Given the description of an element on the screen output the (x, y) to click on. 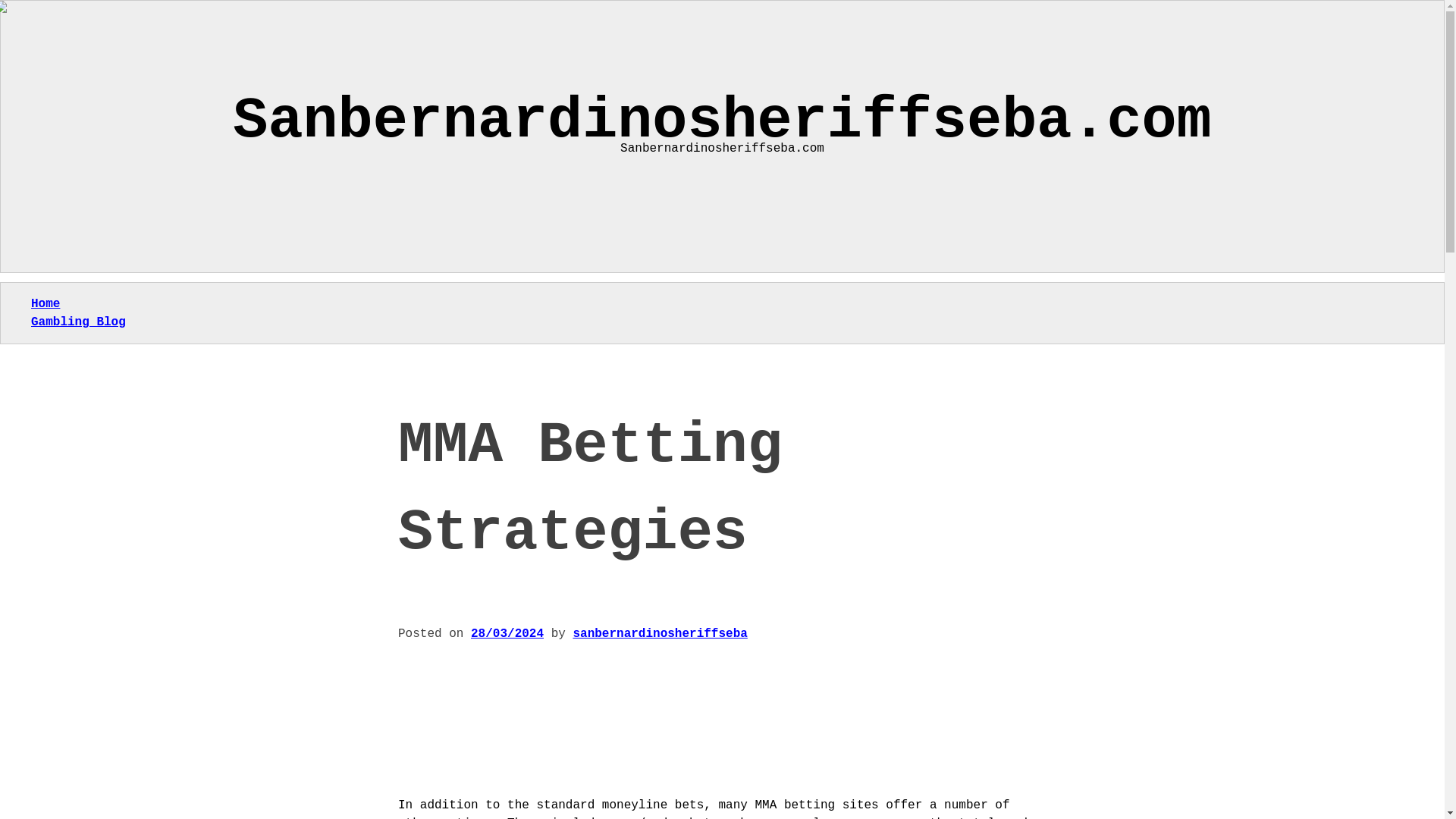
sanbernardinosheriffseba (659, 633)
Sanbernardinosheriffseba.com (721, 120)
Gambling Blog (77, 322)
Home (44, 304)
